Given the description of an element on the screen output the (x, y) to click on. 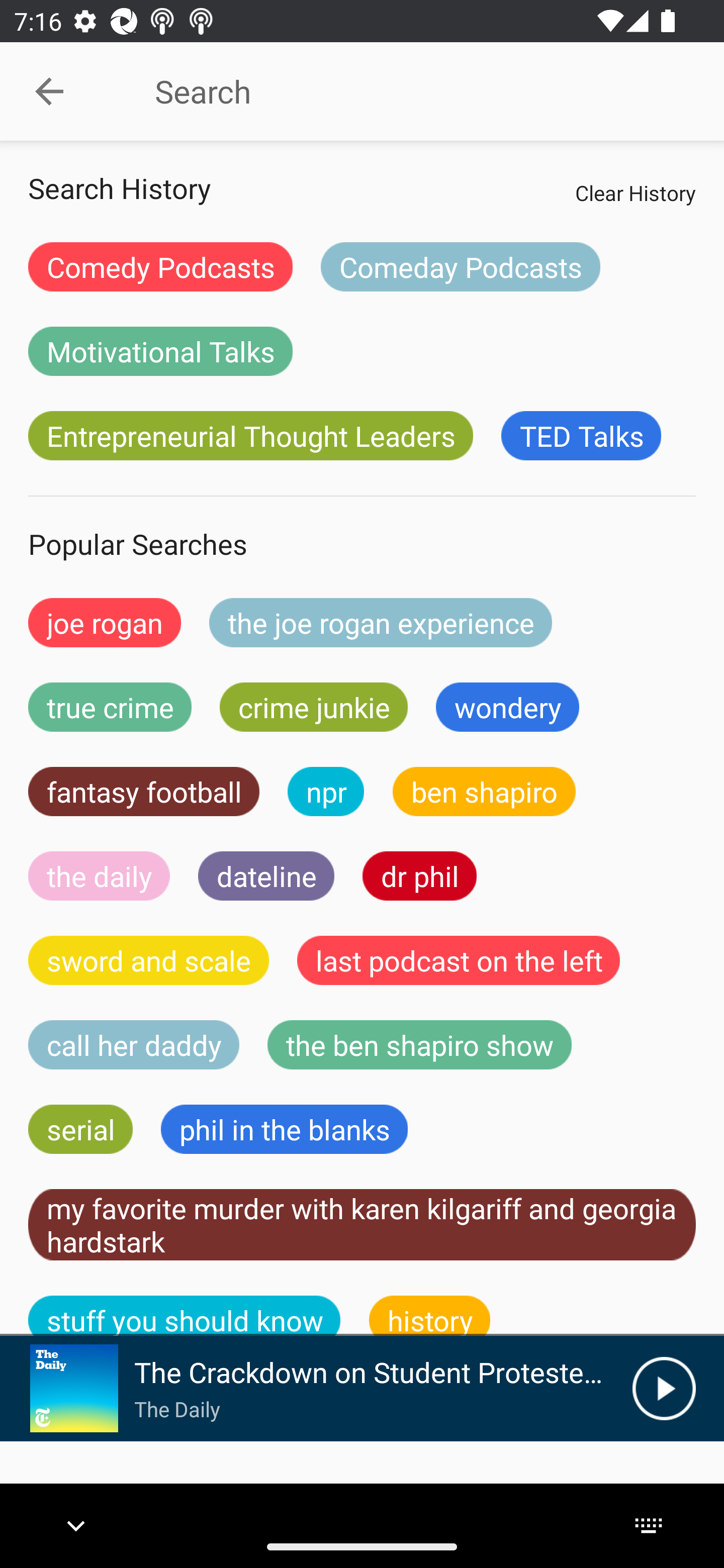
Collapse (49, 91)
Search (407, 91)
Clear History (634, 192)
Comedy Podcasts (160, 266)
Comeday Podcasts (460, 266)
Motivational Talks (160, 351)
Entrepreneurial Thought Leaders (250, 435)
TED Talks (581, 435)
joe rogan (104, 622)
the joe rogan experience (380, 622)
true crime (109, 707)
crime junkie (313, 707)
wondery (507, 707)
fantasy football (143, 791)
npr (325, 791)
ben shapiro (483, 791)
the daily (99, 875)
dateline (266, 875)
dr phil (419, 875)
sword and scale (148, 960)
last podcast on the left (458, 960)
call her daddy (133, 1044)
the ben shapiro show (419, 1044)
serial (80, 1128)
phil in the blanks (283, 1128)
stuff you should know (184, 1315)
history (429, 1315)
Play (663, 1388)
